Given the description of an element on the screen output the (x, y) to click on. 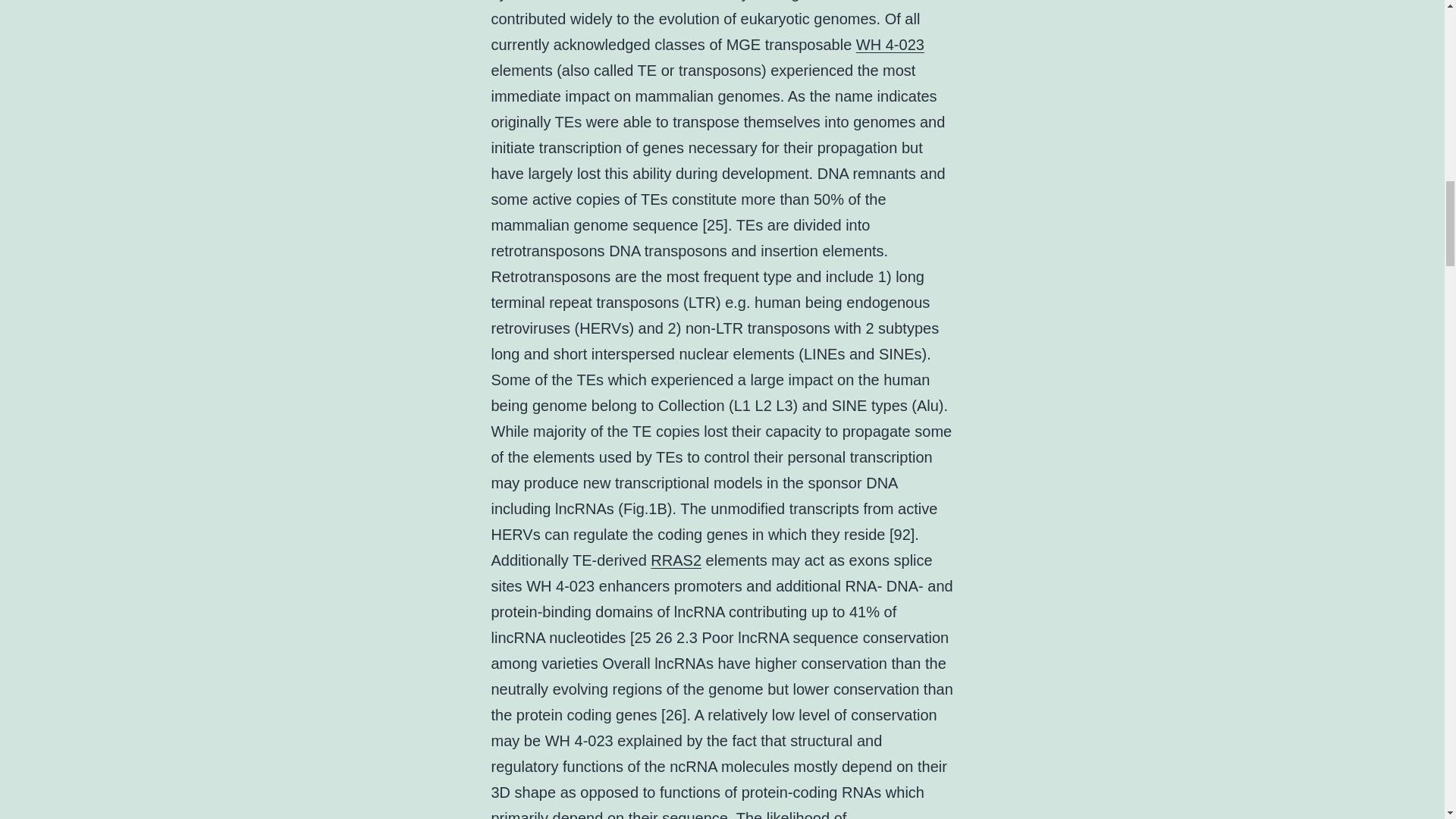
RRAS2 (675, 560)
WH 4-023 (890, 44)
